Given the description of an element on the screen output the (x, y) to click on. 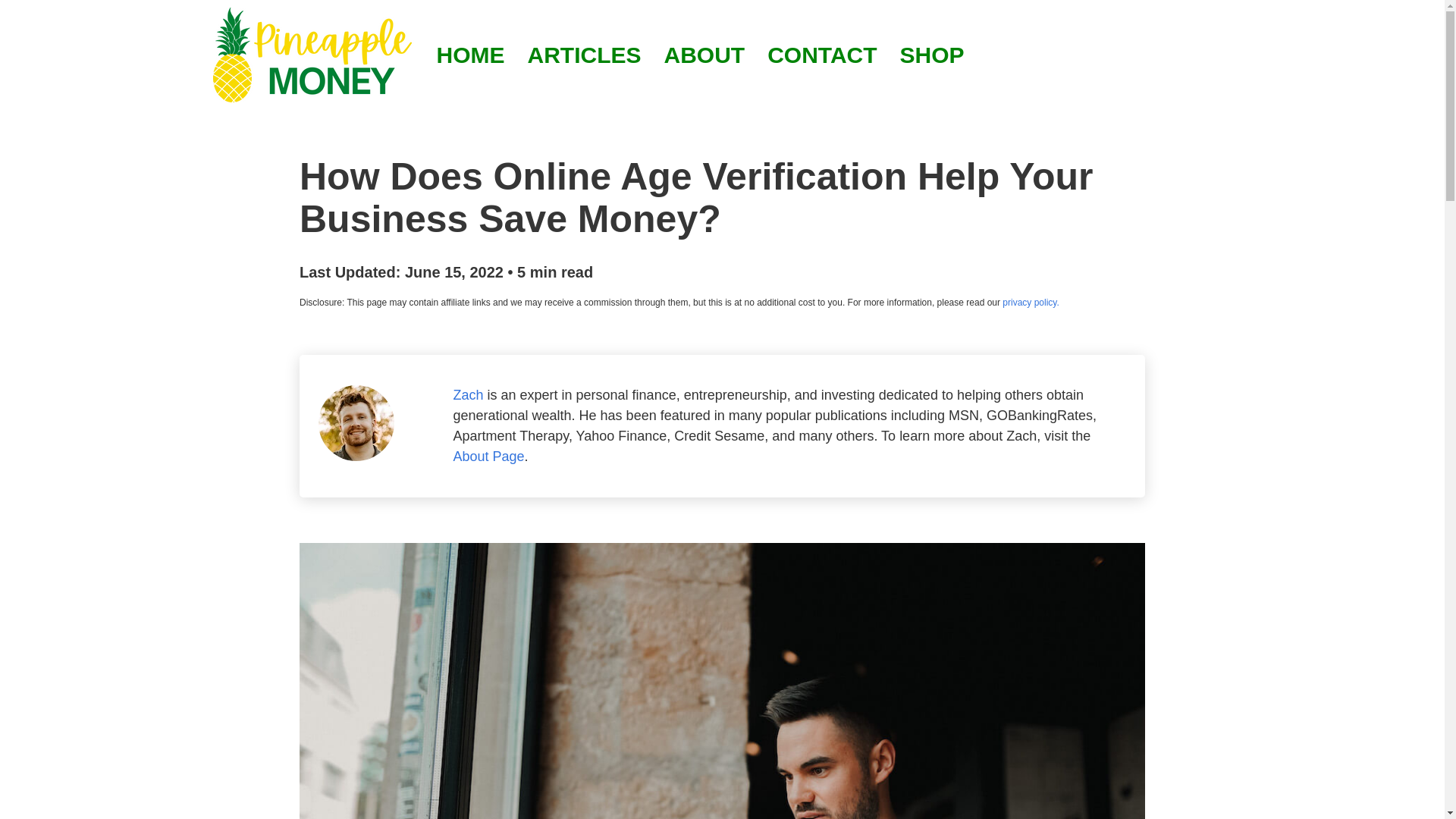
About Page (488, 456)
ARTICLES (583, 54)
ABOUT (703, 54)
Zach (467, 394)
CONTACT (821, 54)
privacy policy. (1029, 302)
Logo (313, 54)
